Given the description of an element on the screen output the (x, y) to click on. 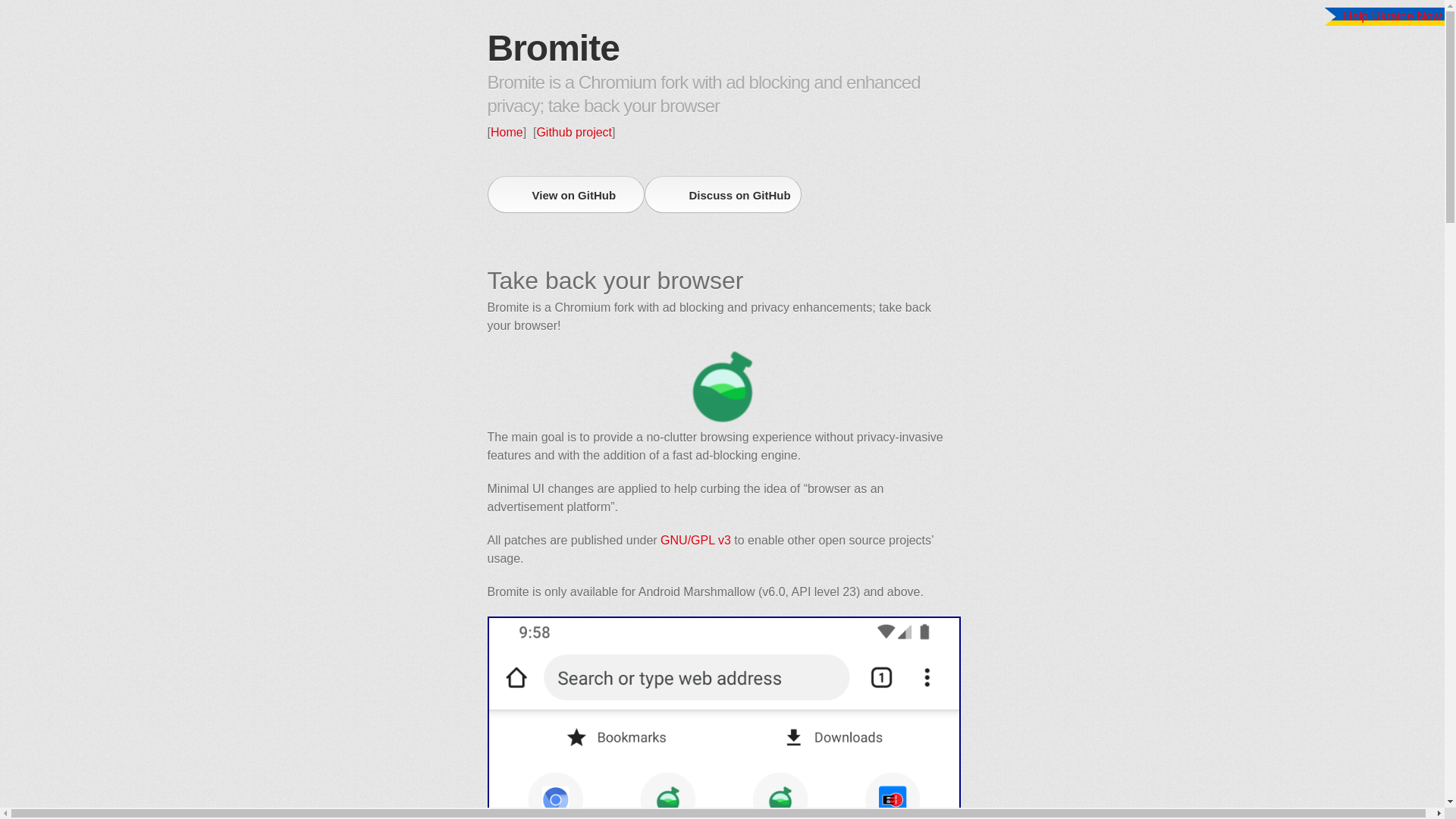
Bromite - Take back your browser! (721, 386)
Help Ukraine Now (1392, 15)
Github project (573, 132)
Home (506, 132)
View on GitHub (564, 194)
Discuss on GitHub (723, 194)
New Tab Page (722, 717)
